Given the description of an element on the screen output the (x, y) to click on. 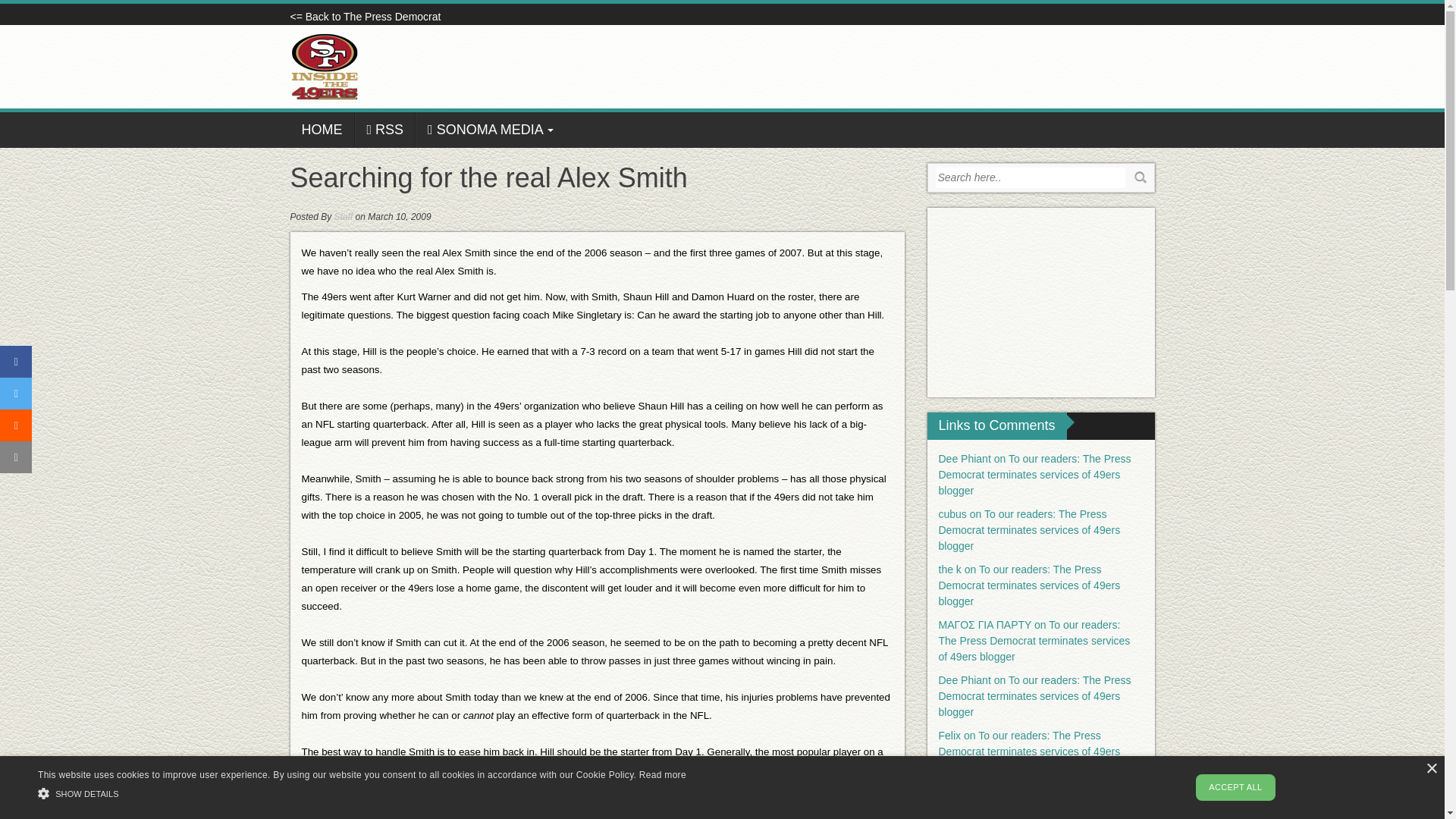
RSS (384, 130)
SONOMA MEDIA (489, 130)
3rd party ad content (1040, 302)
HOME (321, 130)
Posts by Staff (343, 216)
Search here.. (1030, 177)
3rd party ad content (878, 66)
Read more (662, 774)
